Given the description of an element on the screen output the (x, y) to click on. 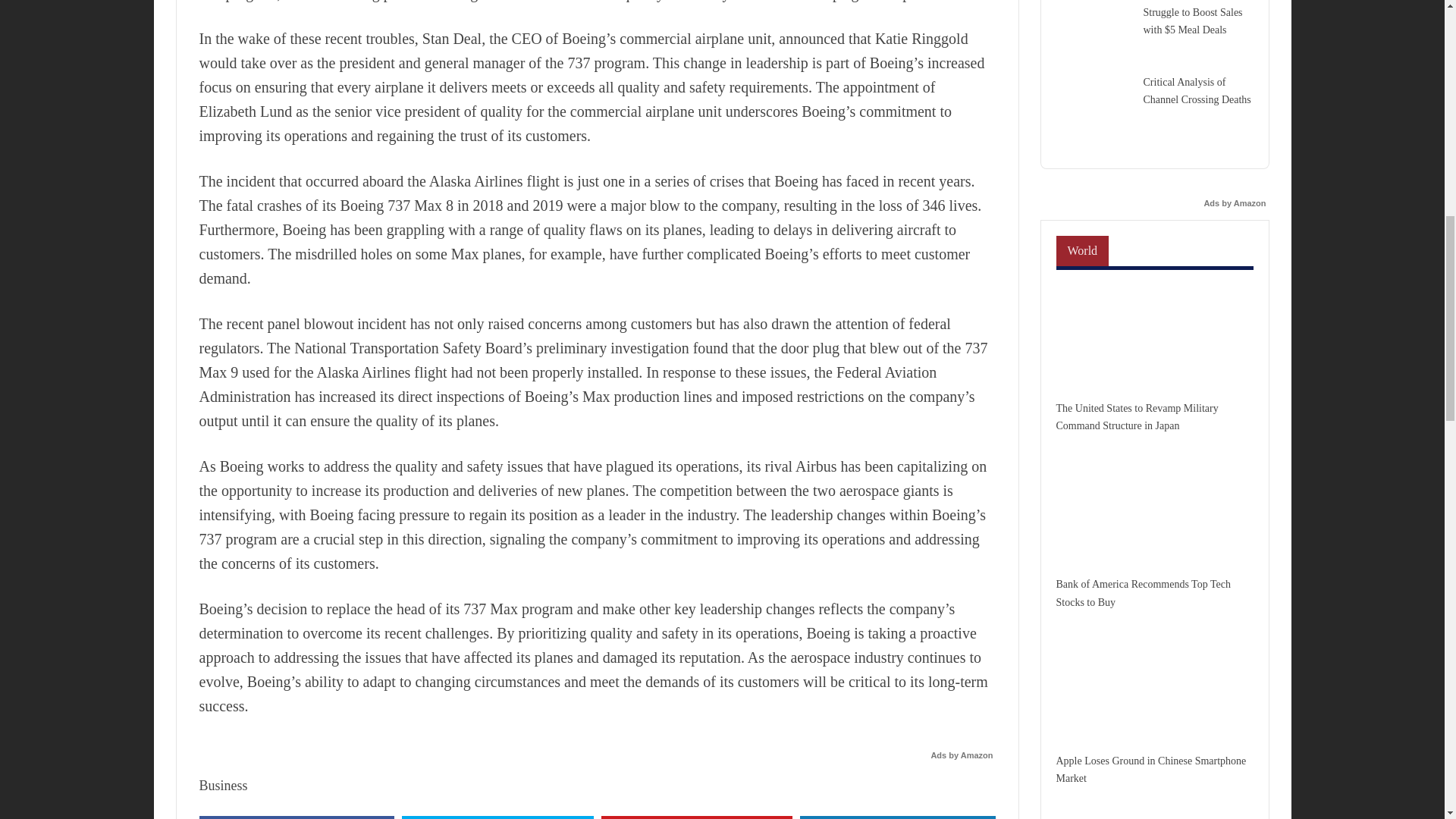
Business (222, 785)
